Given the description of an element on the screen output the (x, y) to click on. 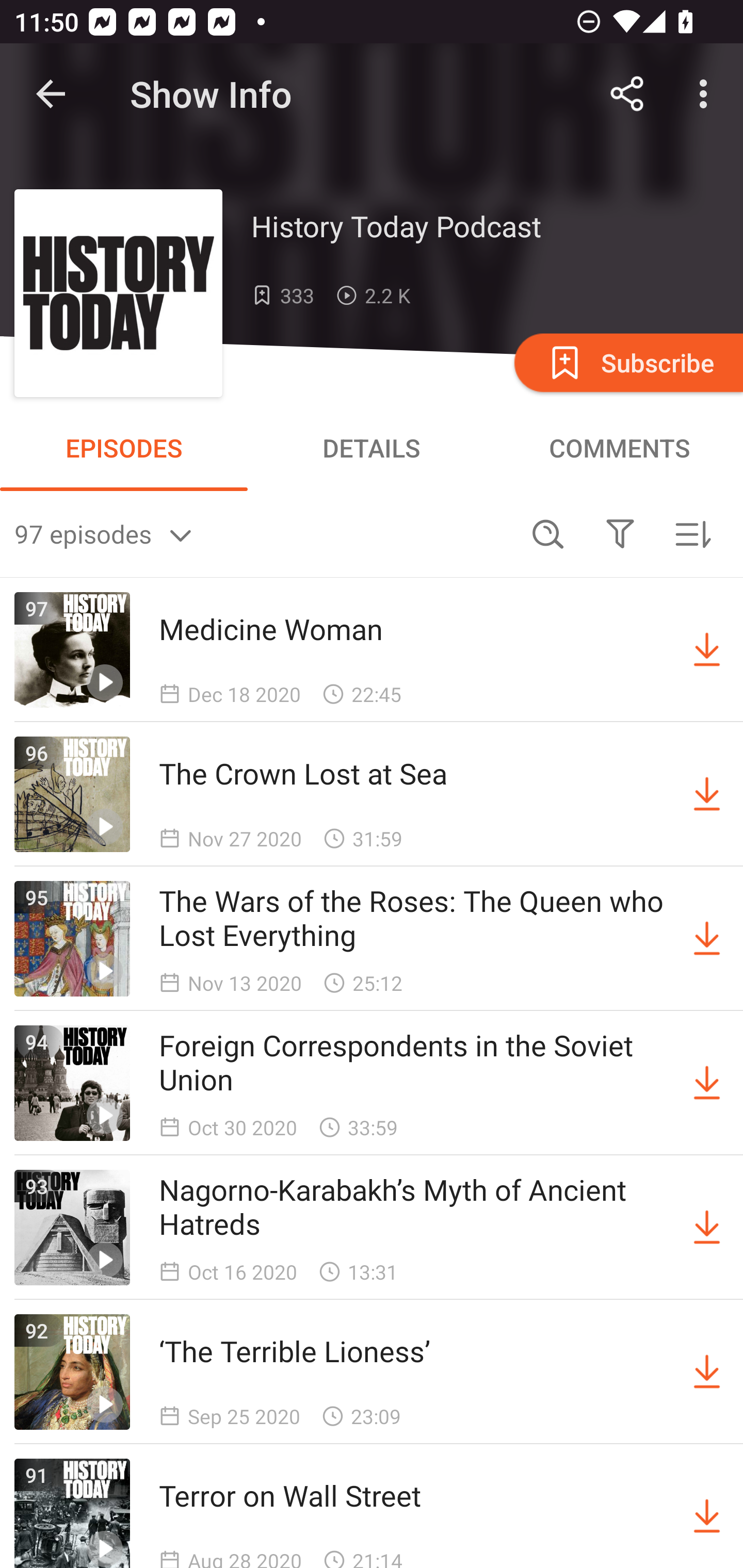
Navigate up (50, 93)
Share (626, 93)
More options (706, 93)
Subscribe (627, 361)
EPISODES (123, 447)
DETAILS (371, 447)
COMMENTS (619, 447)
97 episodes  (262, 533)
 Search (547, 533)
 (619, 533)
 Sorted by newest first (692, 533)
Download (706, 649)
Download (706, 793)
Download (706, 939)
Download (706, 1083)
Download (706, 1227)
Download (706, 1371)
Download (706, 1513)
